Given the description of an element on the screen output the (x, y) to click on. 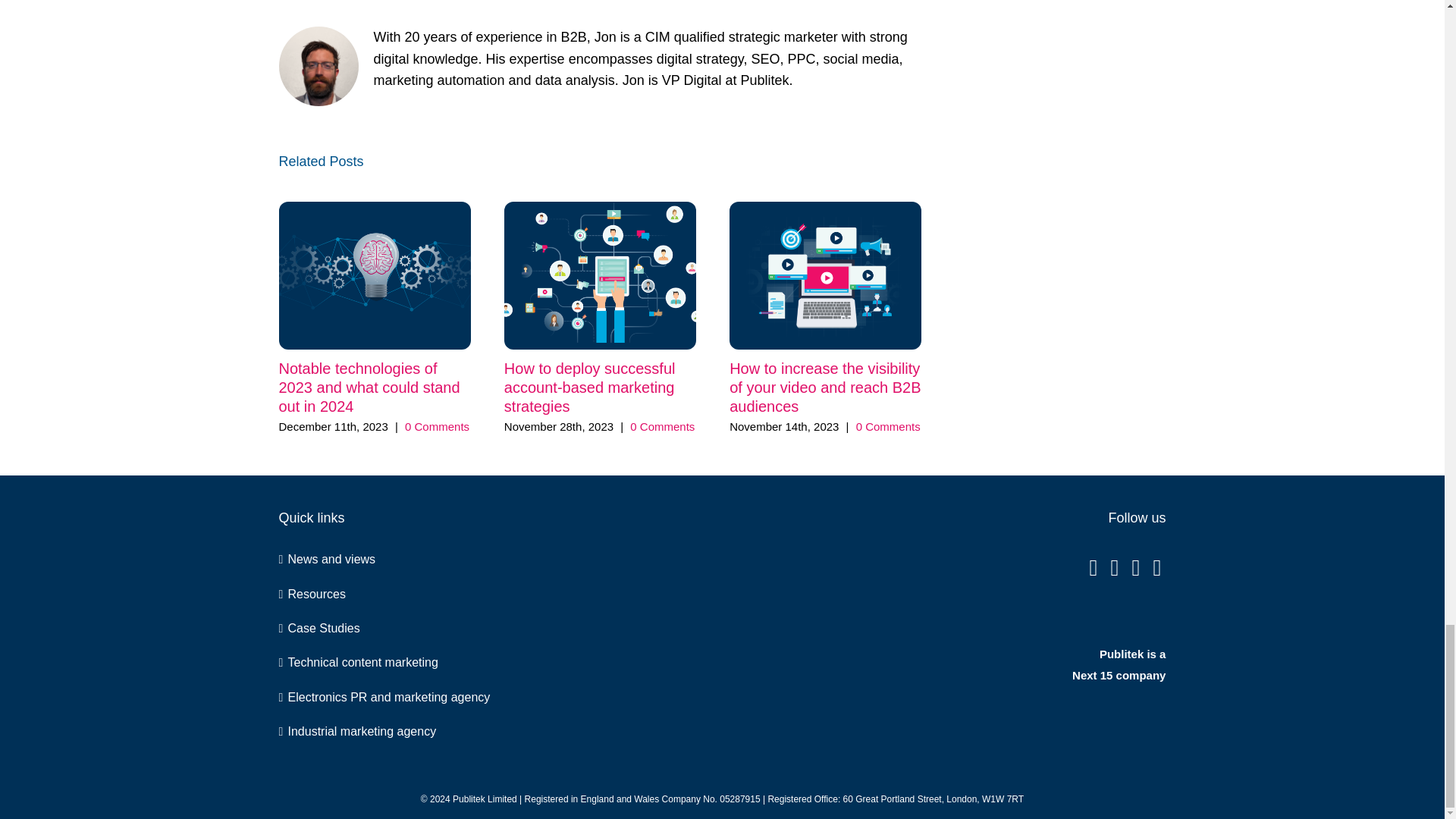
How to deploy successful account-based marketing strategies (589, 387)
